Given the description of an element on the screen output the (x, y) to click on. 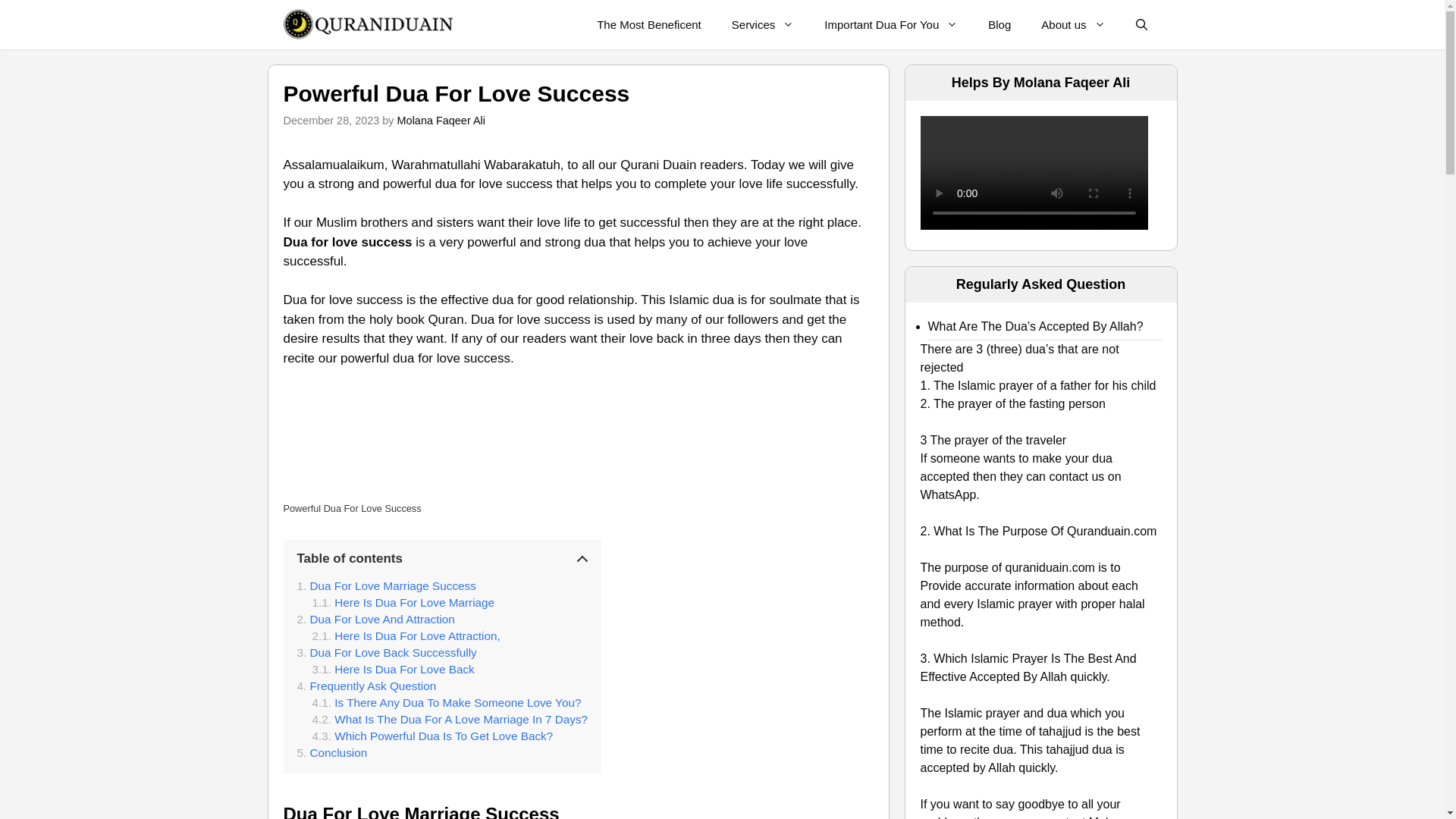
Here Is Dua For Love Attraction, (406, 635)
Here Is Dua For Love Marriage (404, 602)
Molana Faqeer Ali (440, 120)
Dua For Love And Attraction (375, 619)
Dua For Love Marriage Success (386, 585)
Here Is Dua For Love Attraction, (406, 635)
View all posts by Molana Faqeer Ali (440, 120)
Qurani Duain (367, 24)
Here Is Dua For Love Marriage (404, 602)
Services (762, 24)
What Is The Dua For A Love Marriage In 7 Days? (450, 719)
Here Is Dua For Love Back (393, 669)
Blog (999, 24)
Important Dua For You (890, 24)
Dua For Love Back Successfully (387, 653)
